Given the description of an element on the screen output the (x, y) to click on. 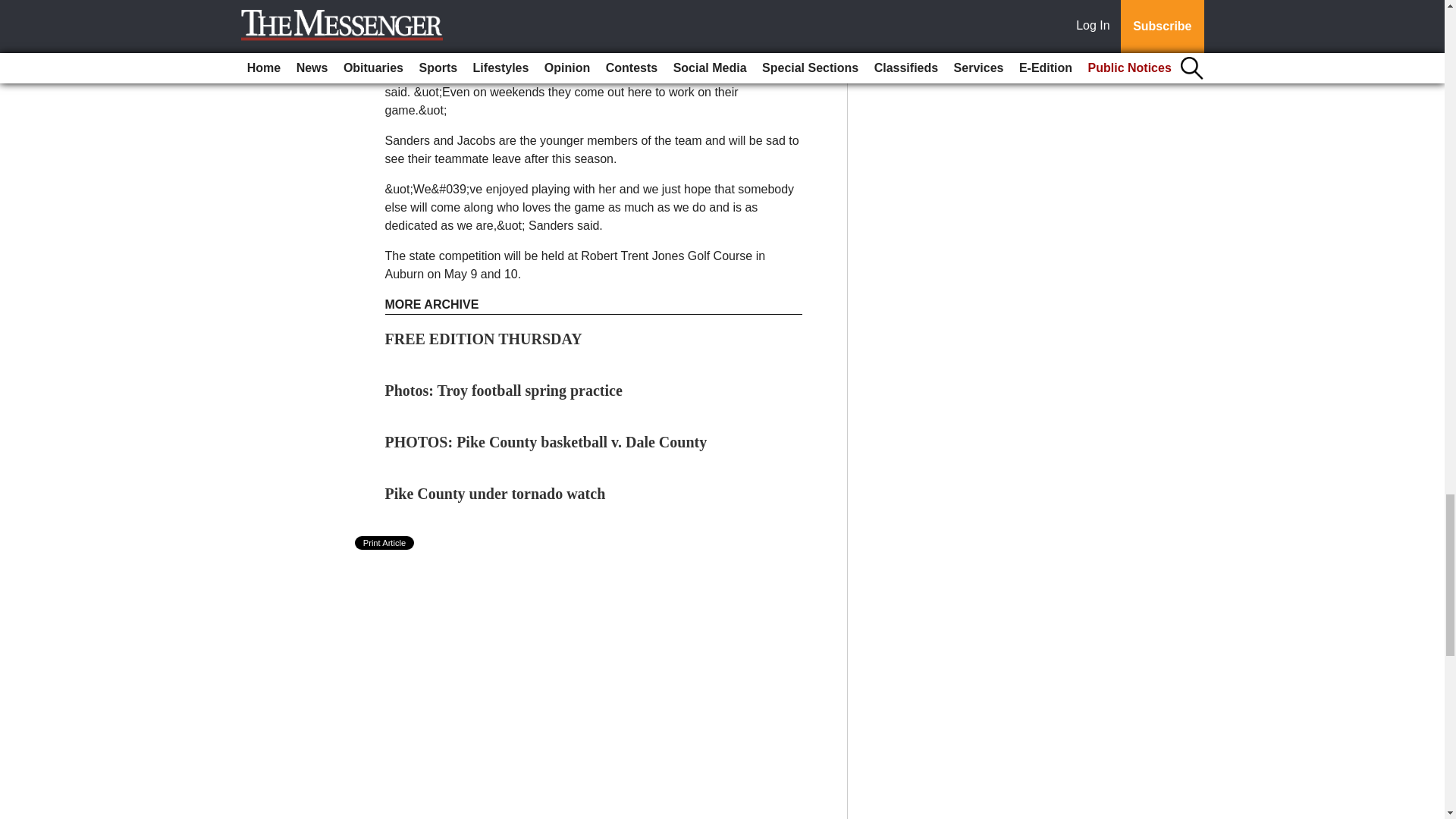
FREE EDITION THURSDAY (483, 338)
PHOTOS: Pike County basketball v. Dale County (546, 442)
Photos: Troy football spring practice (504, 390)
Pike County under tornado watch (495, 493)
